Given the description of an element on the screen output the (x, y) to click on. 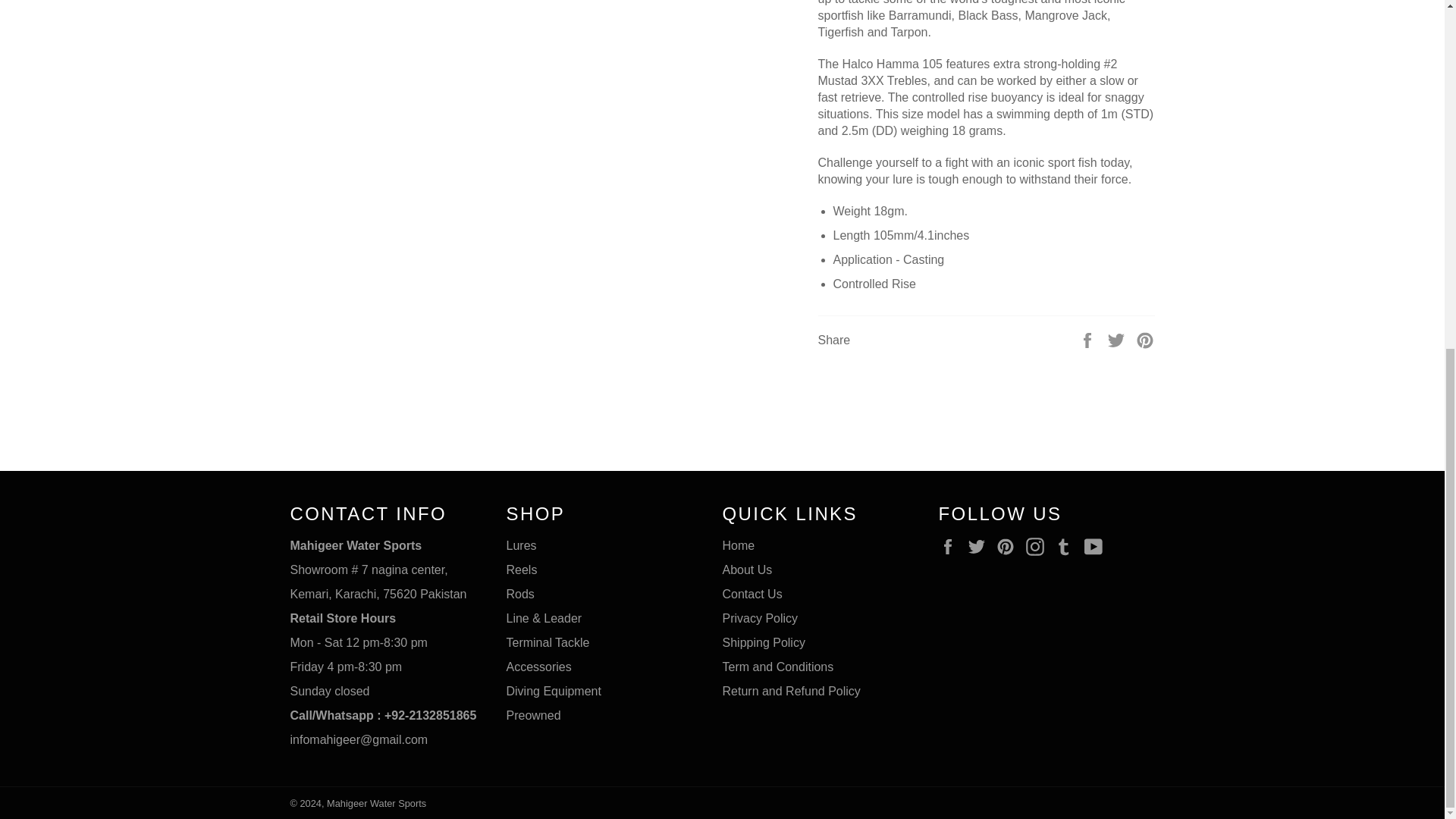
Whatsapp Mahigeer Water Sports (382, 715)
Lures (521, 545)
Share on Facebook (1088, 338)
Rods (520, 594)
Terminal Tackle (547, 642)
Refund Policy (791, 690)
Mahigeer Water Sports on Twitter (980, 546)
Mahigeer Water Sports on Facebook (951, 546)
Terms of Service (777, 666)
Reels (521, 569)
Privacy Policy (759, 617)
Shipping Policy (763, 642)
Pin on Pinterest (1144, 338)
Tweet on Twitter (1117, 338)
Accessories (539, 666)
